Given the description of an element on the screen output the (x, y) to click on. 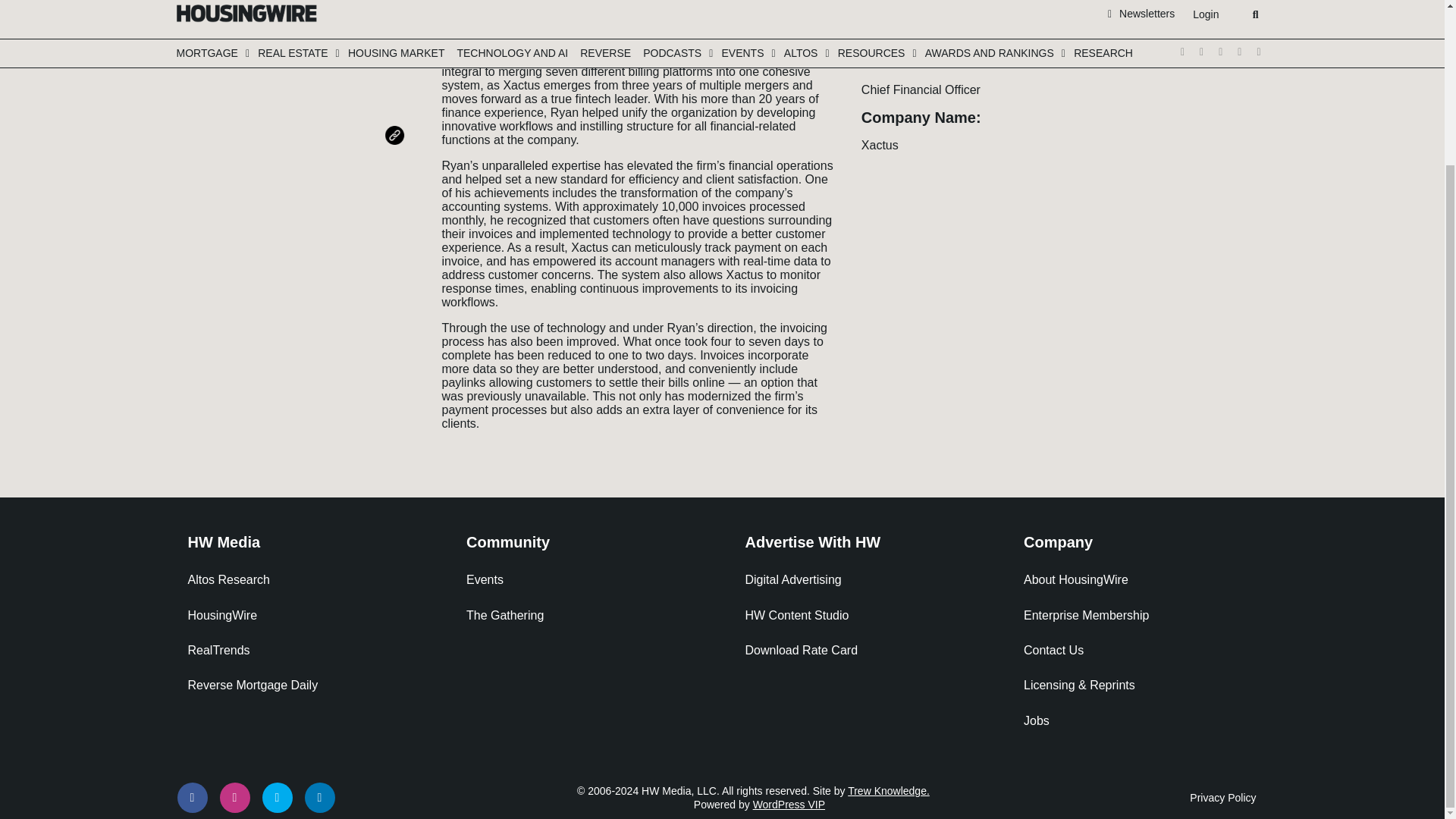
Click to share on Facebook (398, 34)
Click to share on LinkedIn (398, 57)
Click to email a link to a friend (398, 80)
Click to copy link (398, 103)
Click to share on Twitter (398, 12)
